Given the description of an element on the screen output the (x, y) to click on. 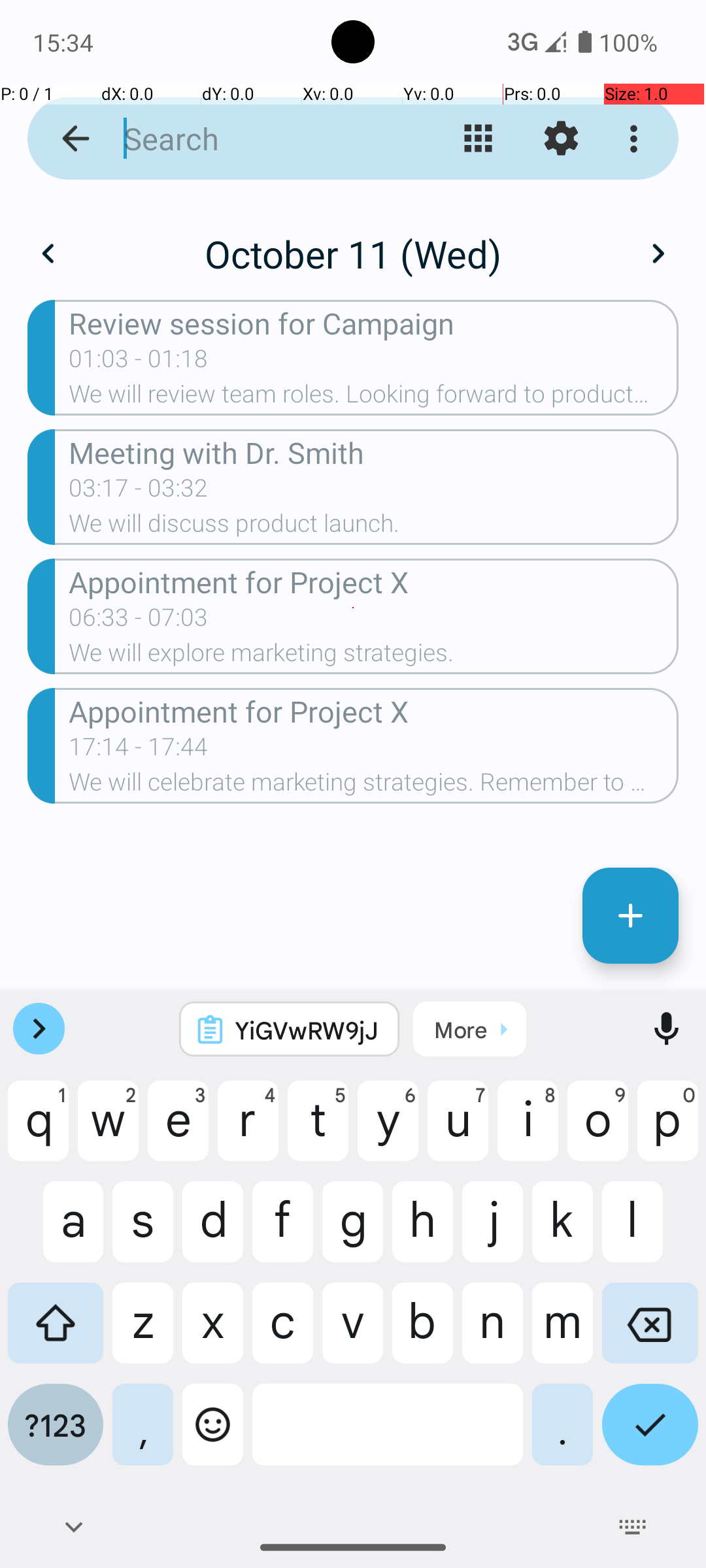
October 11 (Wed) Element type: android.widget.TextView (352, 253)
Review session for Campaign Element type: android.widget.TextView (373, 321)
01:03 - 01:18 Element type: android.widget.TextView (137, 362)
We will review team roles. Looking forward to productive discussions. Element type: android.widget.TextView (373, 397)
Meeting with Dr. Smith Element type: android.widget.TextView (373, 451)
03:17 - 03:32 Element type: android.widget.TextView (137, 491)
We will discuss product launch. Element type: android.widget.TextView (373, 526)
Appointment for Project X Element type: android.widget.TextView (373, 580)
06:33 - 07:03 Element type: android.widget.TextView (137, 620)
We will explore marketing strategies. Element type: android.widget.TextView (373, 656)
17:14 - 17:44 Element type: android.widget.TextView (137, 750)
We will celebrate marketing strategies. Remember to confirm attendance. Element type: android.widget.TextView (373, 785)
YiGVwRW9jJ Element type: android.widget.TextView (306, 1029)
